Given the description of an element on the screen output the (x, y) to click on. 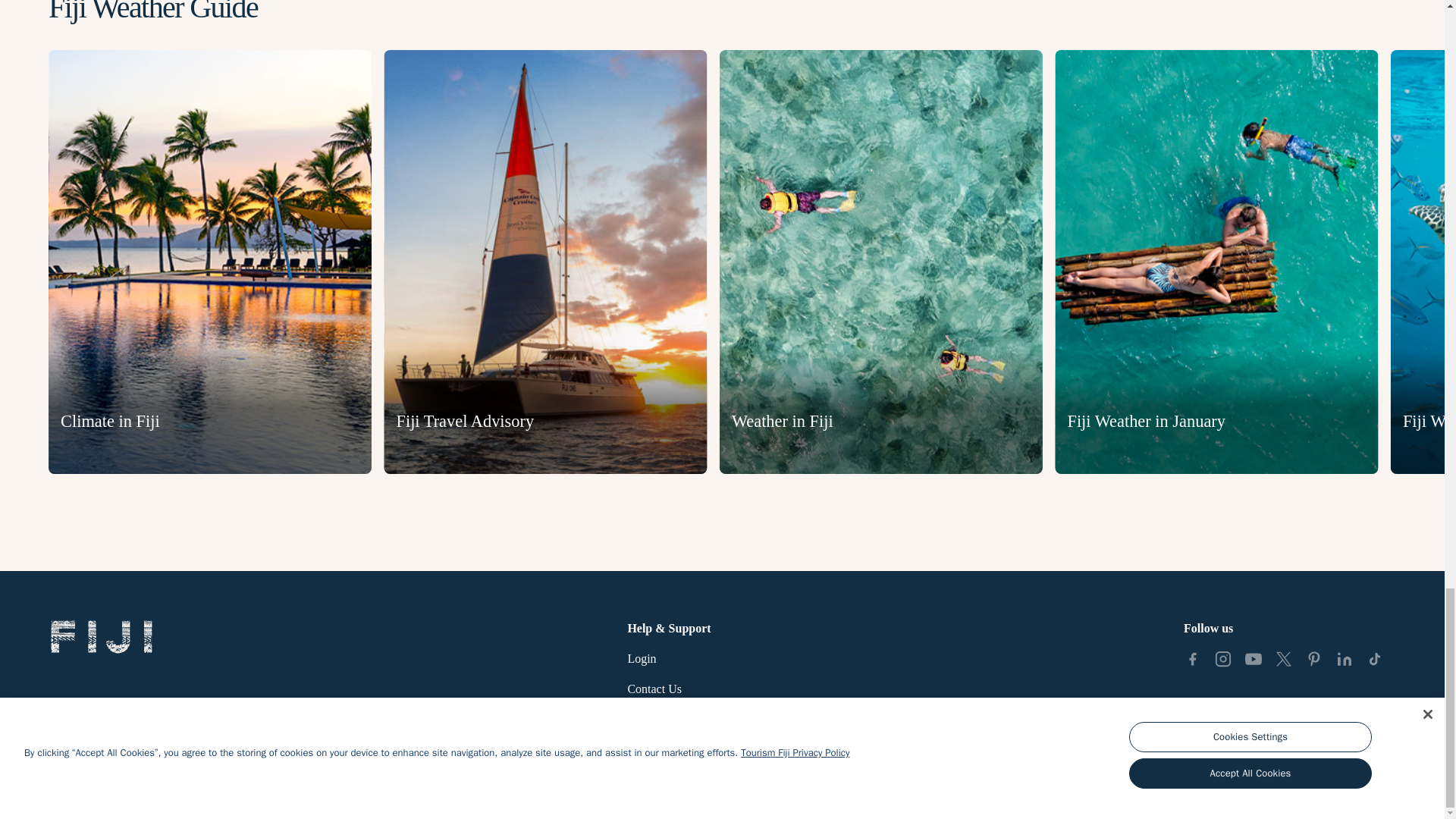
Contact Us (654, 688)
Sitemap (646, 718)
Login (641, 658)
